Given the description of an element on the screen output the (x, y) to click on. 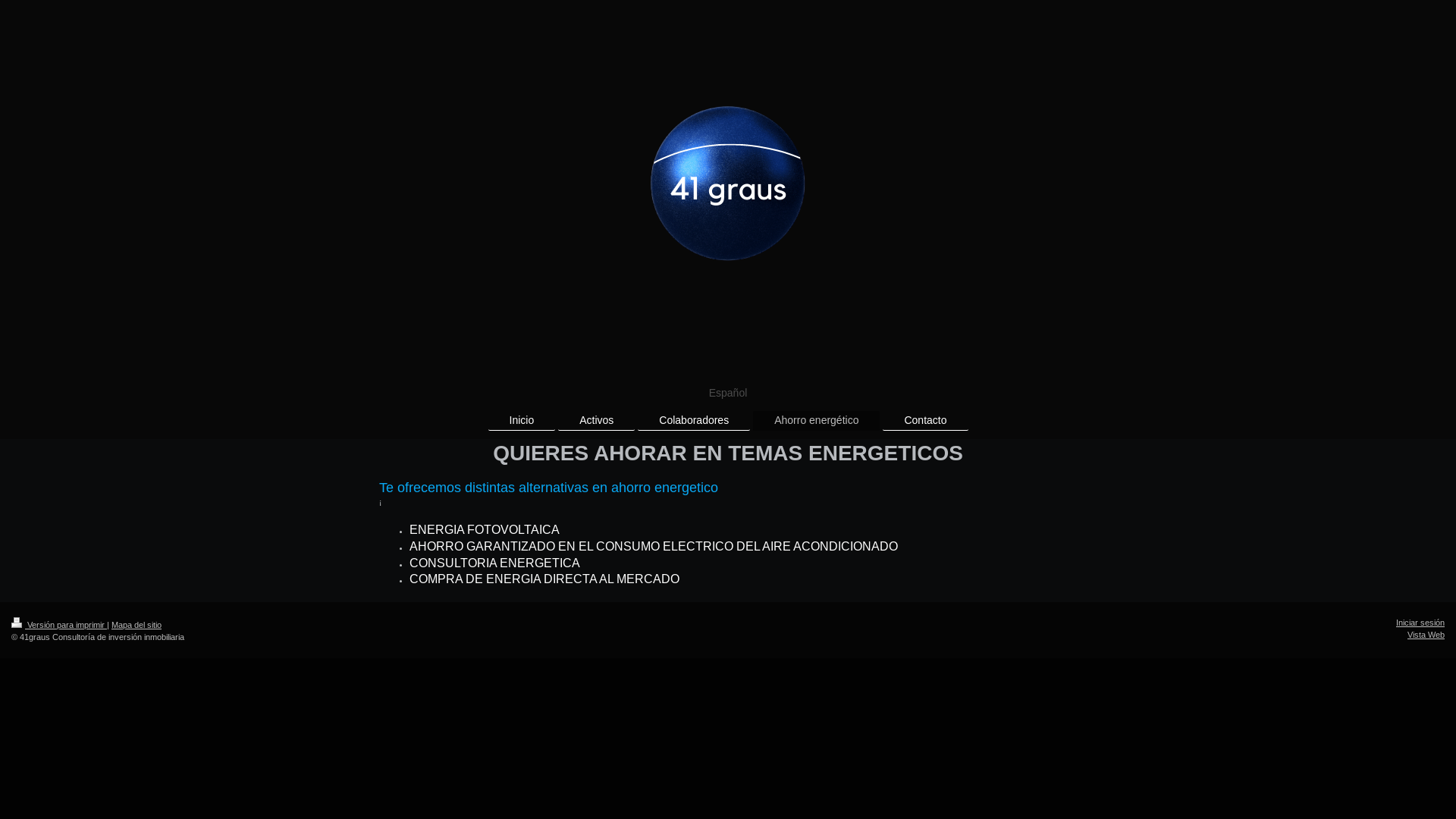
Inicio Element type: text (521, 420)
Colaboradores Element type: text (693, 420)
Contacto Element type: text (924, 420)
Vista Web Element type: text (1425, 634)
Activos Element type: text (596, 420)
Mapa del sitio Element type: text (136, 624)
